Given the description of an element on the screen output the (x, y) to click on. 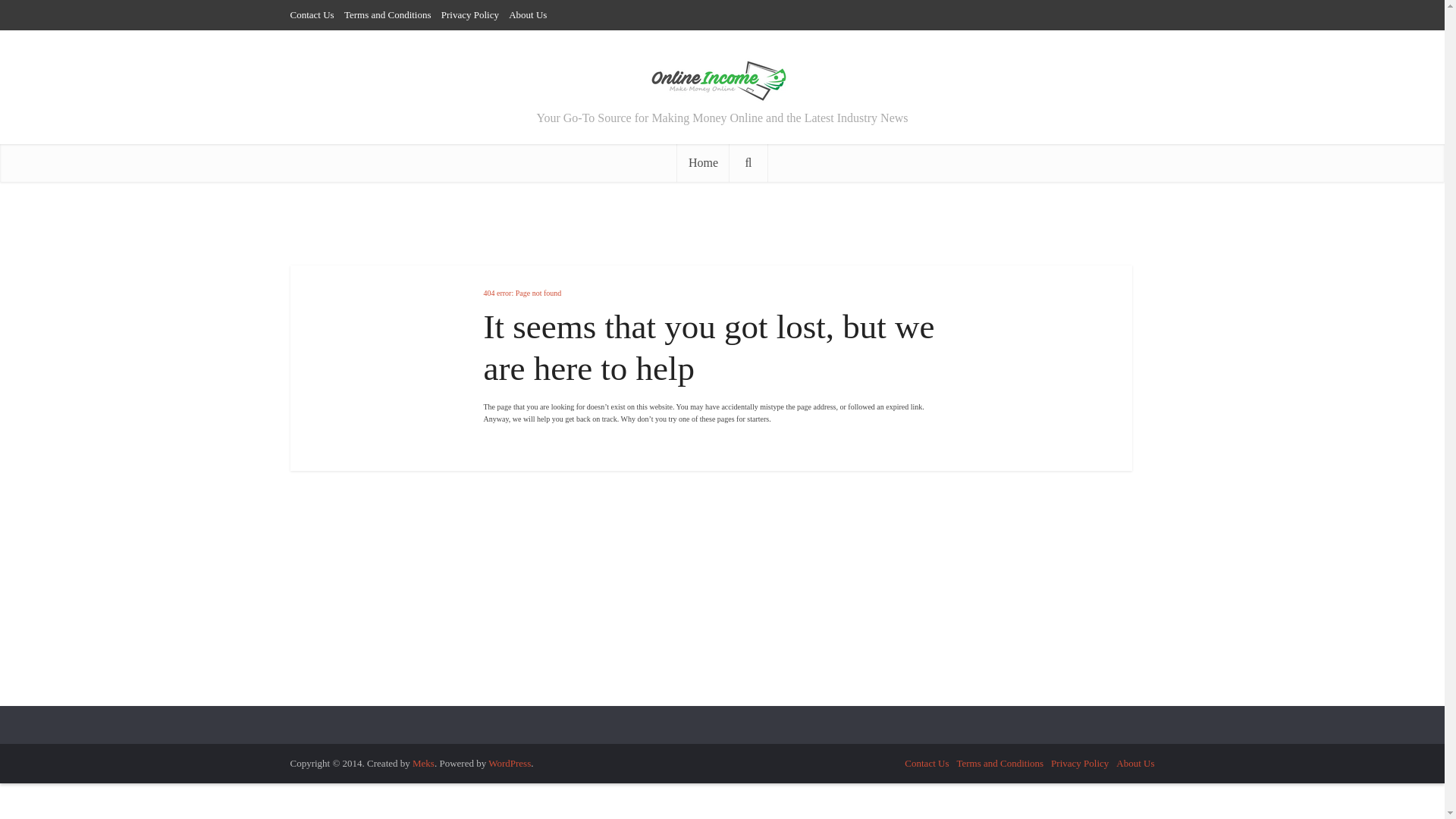
About Us (527, 14)
Privacy Policy (1079, 763)
Meks (422, 763)
Home (703, 162)
Terms and Conditions (999, 763)
Privacy Policy (470, 14)
Contact Us (311, 14)
WordPress (509, 763)
Terms and Conditions (386, 14)
Contact Us (926, 763)
About Us (1135, 763)
Advertisement (558, 588)
